Given the description of an element on the screen output the (x, y) to click on. 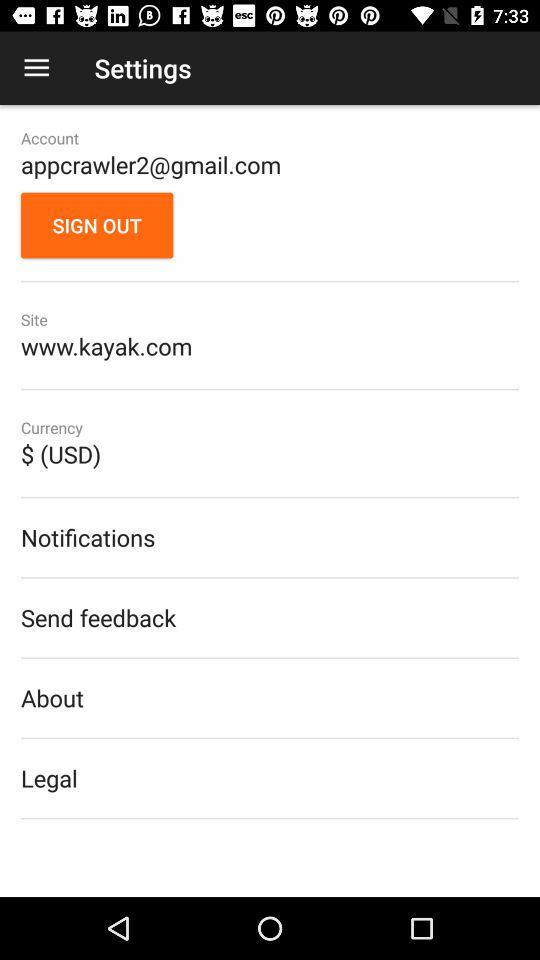
turn off the icon next to the settings (36, 68)
